Given the description of an element on the screen output the (x, y) to click on. 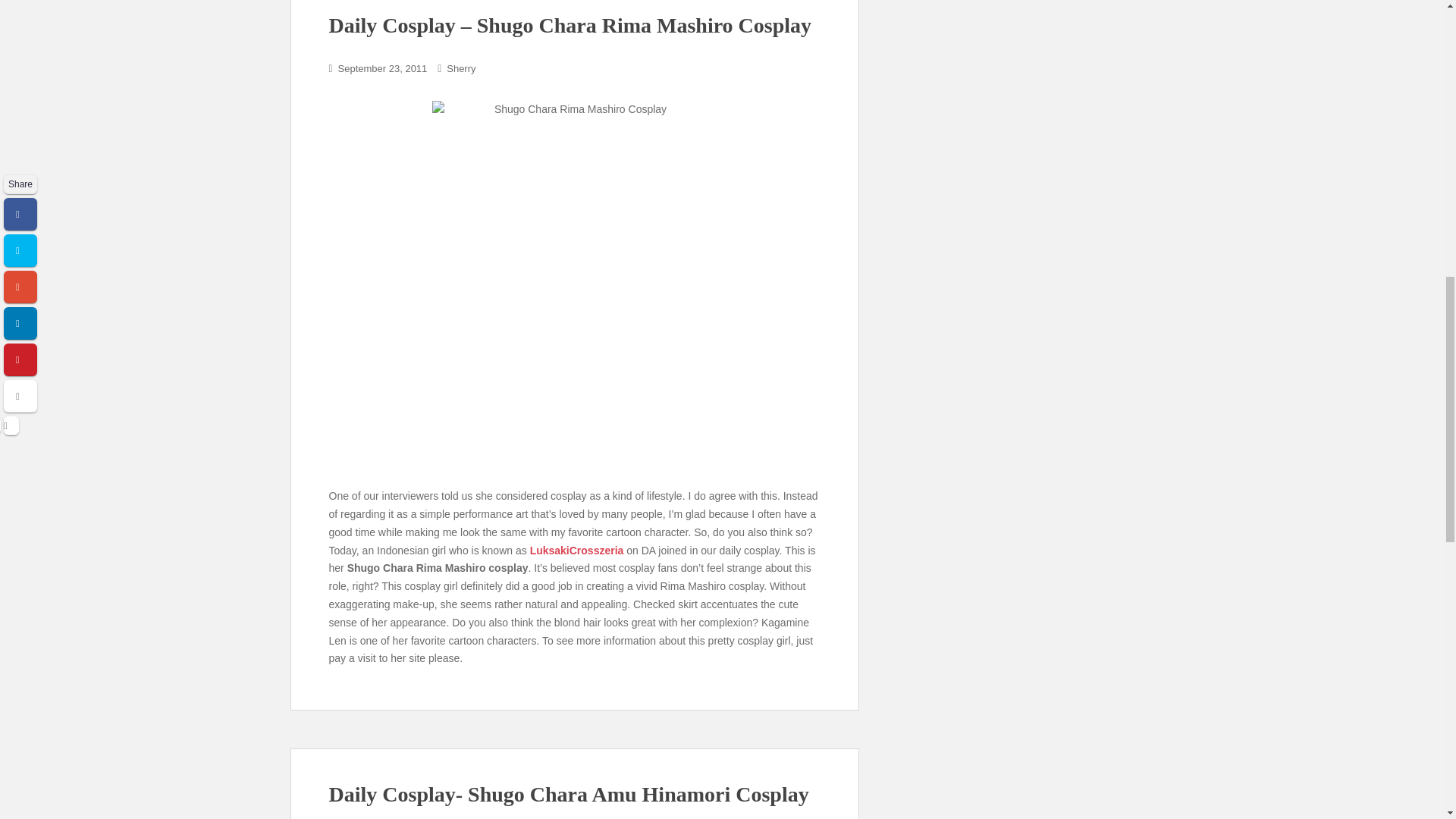
Sherry (461, 68)
Daily Cosplay- Shugo Chara Amu Hinamori Cosplay (569, 793)
LuksakiCrosszeria (576, 550)
September 23, 2011 (382, 68)
